Given the description of an element on the screen output the (x, y) to click on. 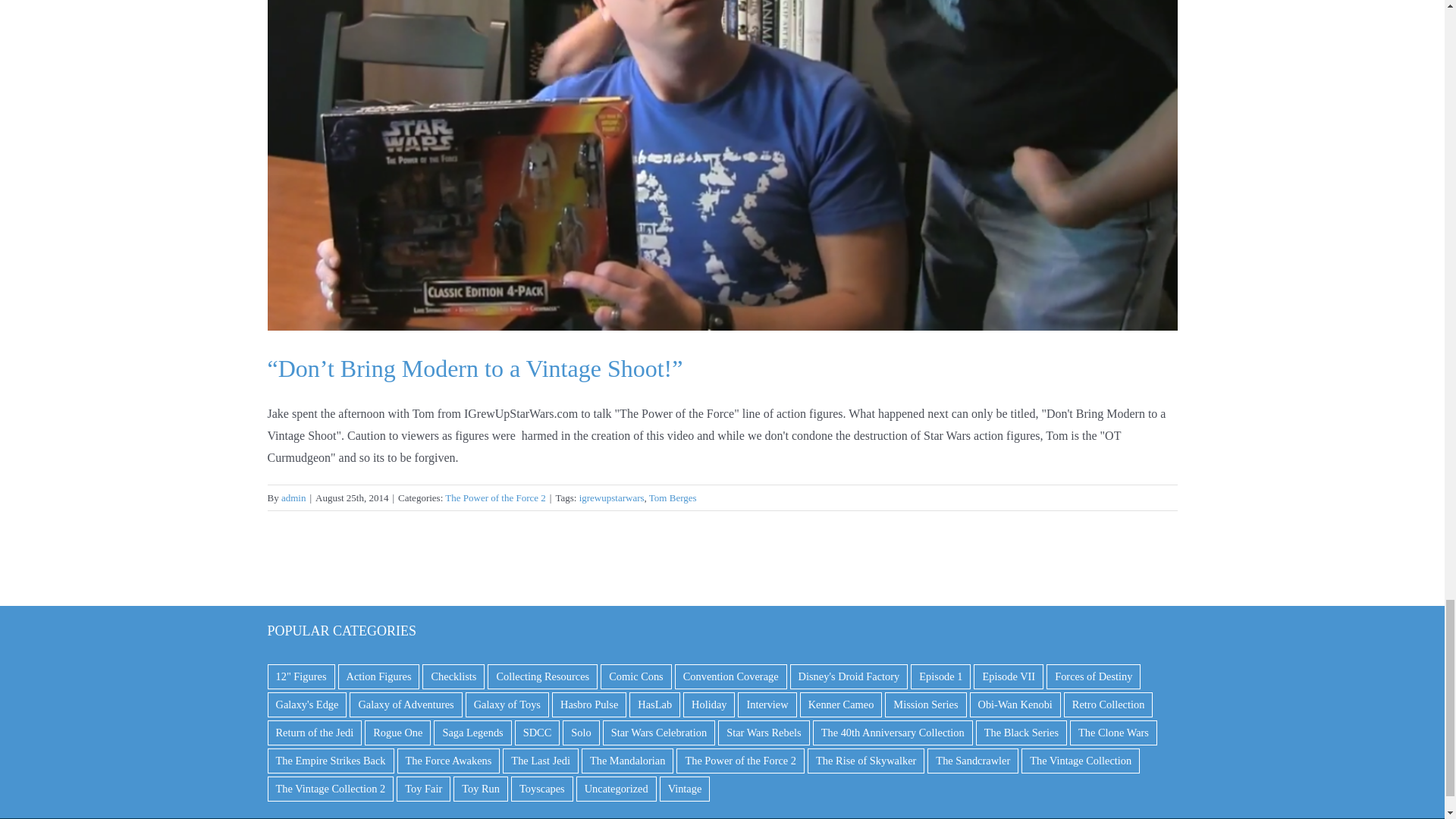
Posts by admin (293, 497)
